Given the description of an element on the screen output the (x, y) to click on. 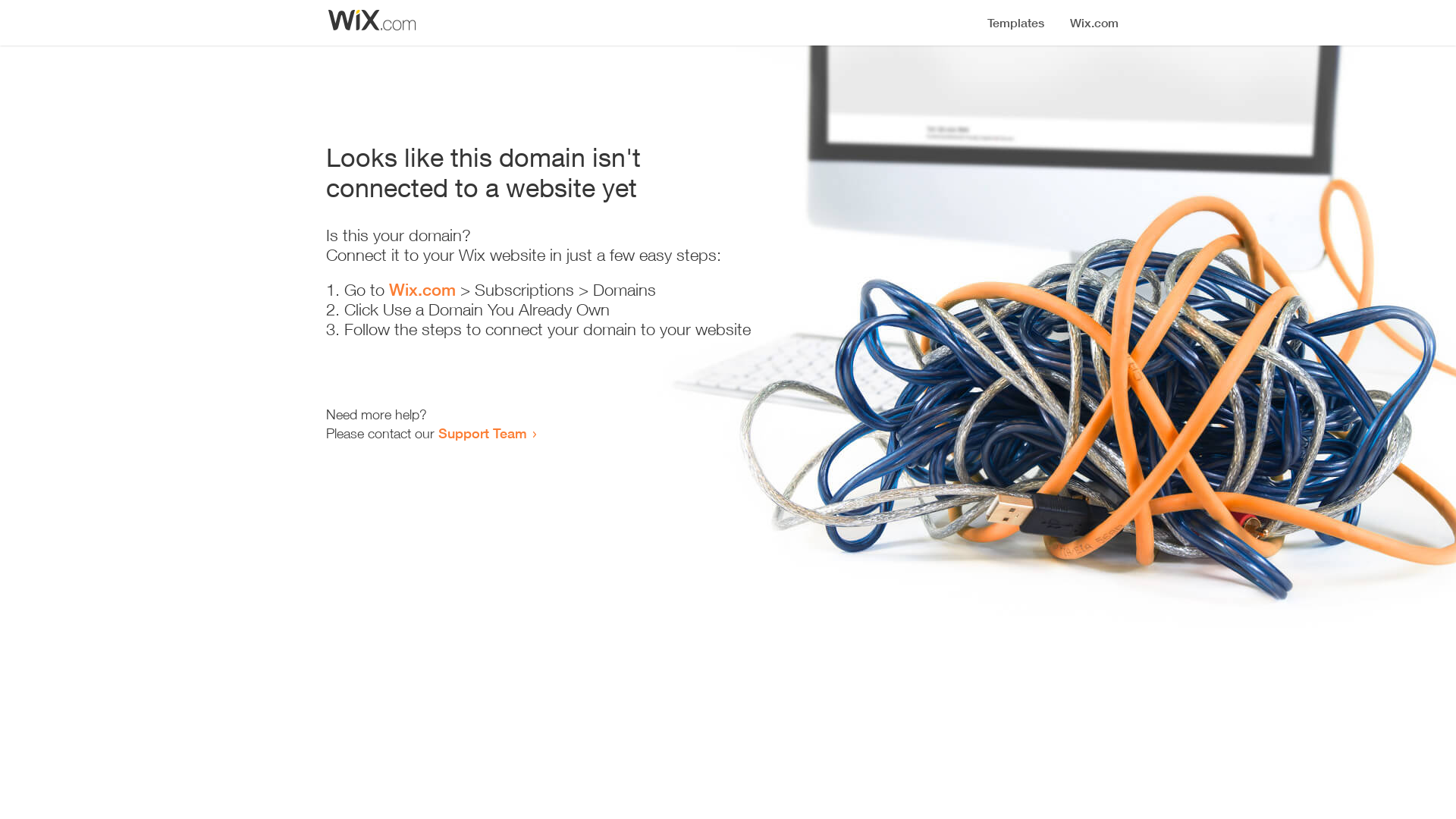
Support Team Element type: text (482, 432)
Wix.com Element type: text (422, 289)
